Given the description of an element on the screen output the (x, y) to click on. 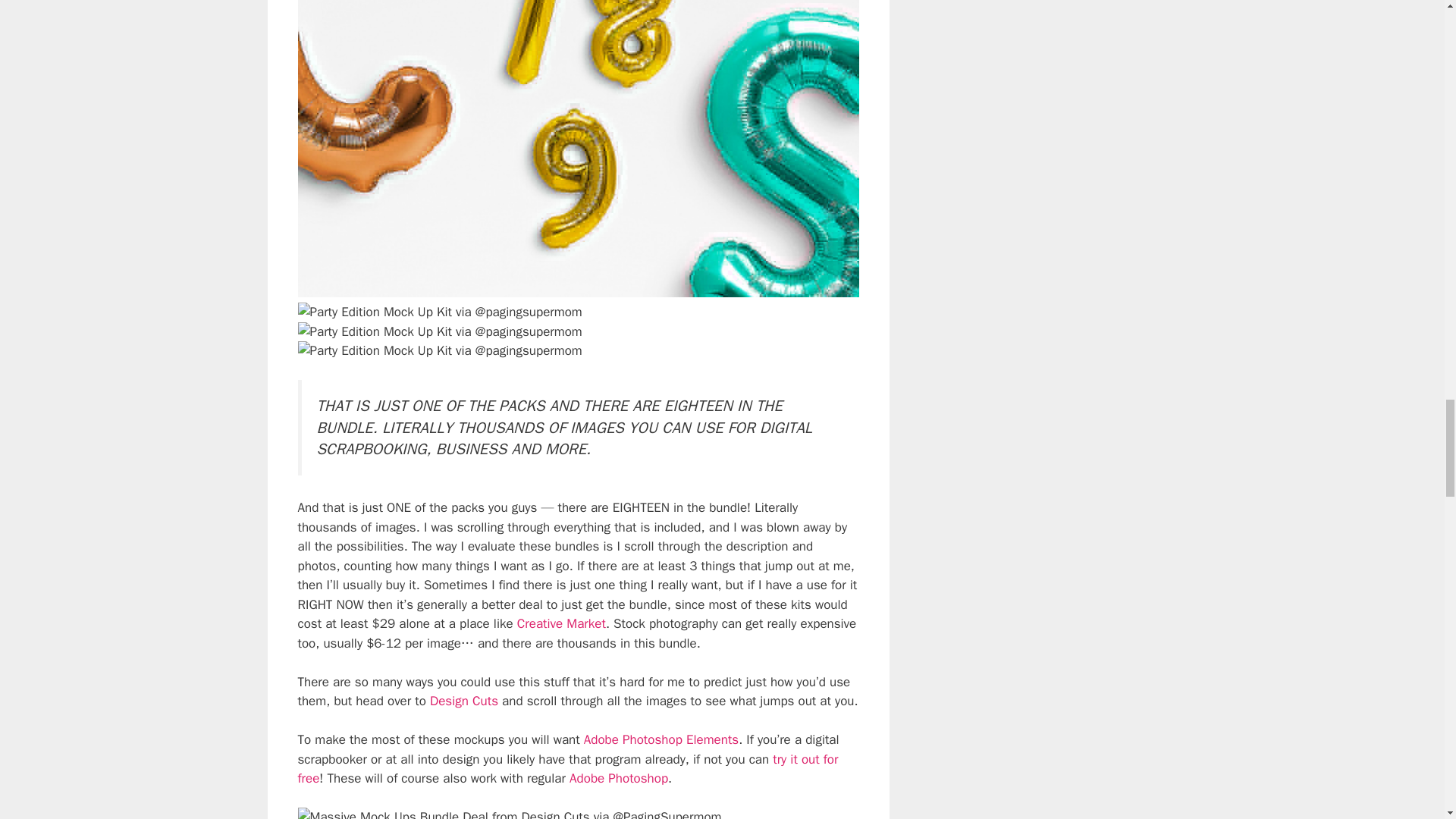
Creative Market (560, 623)
Massive Mockups D10 (438, 332)
Adobe Photoshop (618, 778)
Design Cuts (463, 700)
Awesome Party Mock Ups 1 (438, 351)
try it out for free (567, 769)
Massive Mockups D5 1 (438, 312)
Adobe Photoshop Elements (660, 739)
Design Cuts Massive Mock Ups Bundle (508, 813)
